Given the description of an element on the screen output the (x, y) to click on. 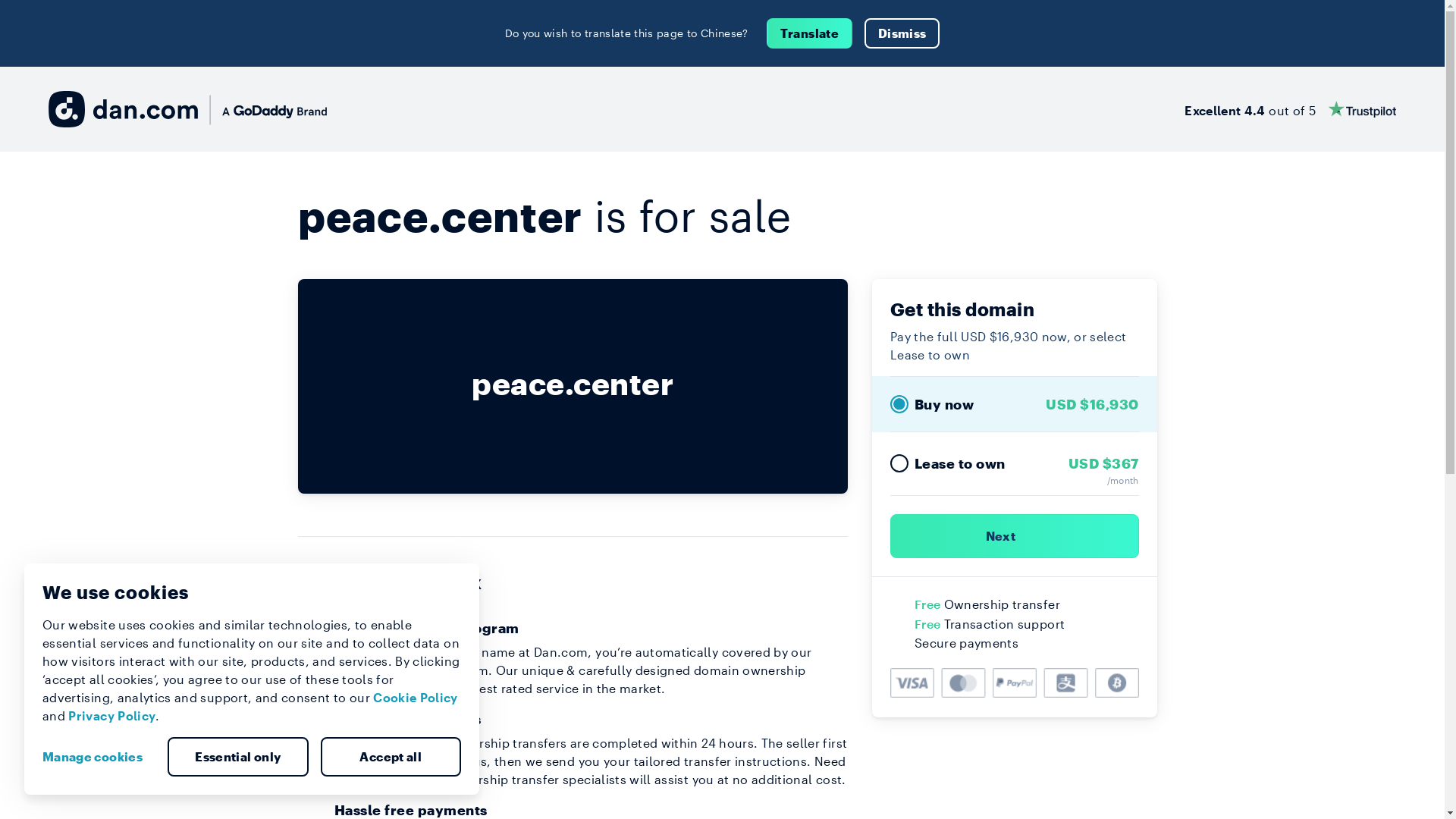
Translate Element type: text (809, 33)
Manage cookies Element type: text (98, 756)
Excellent 4.4 out of 5 Element type: text (1290, 109)
Next
) Element type: text (1014, 536)
Cookie Policy Element type: text (415, 697)
Dismiss Element type: text (901, 33)
Privacy Policy Element type: text (111, 715)
Accept all Element type: text (390, 756)
Essential only Element type: text (237, 756)
